Given the description of an element on the screen output the (x, y) to click on. 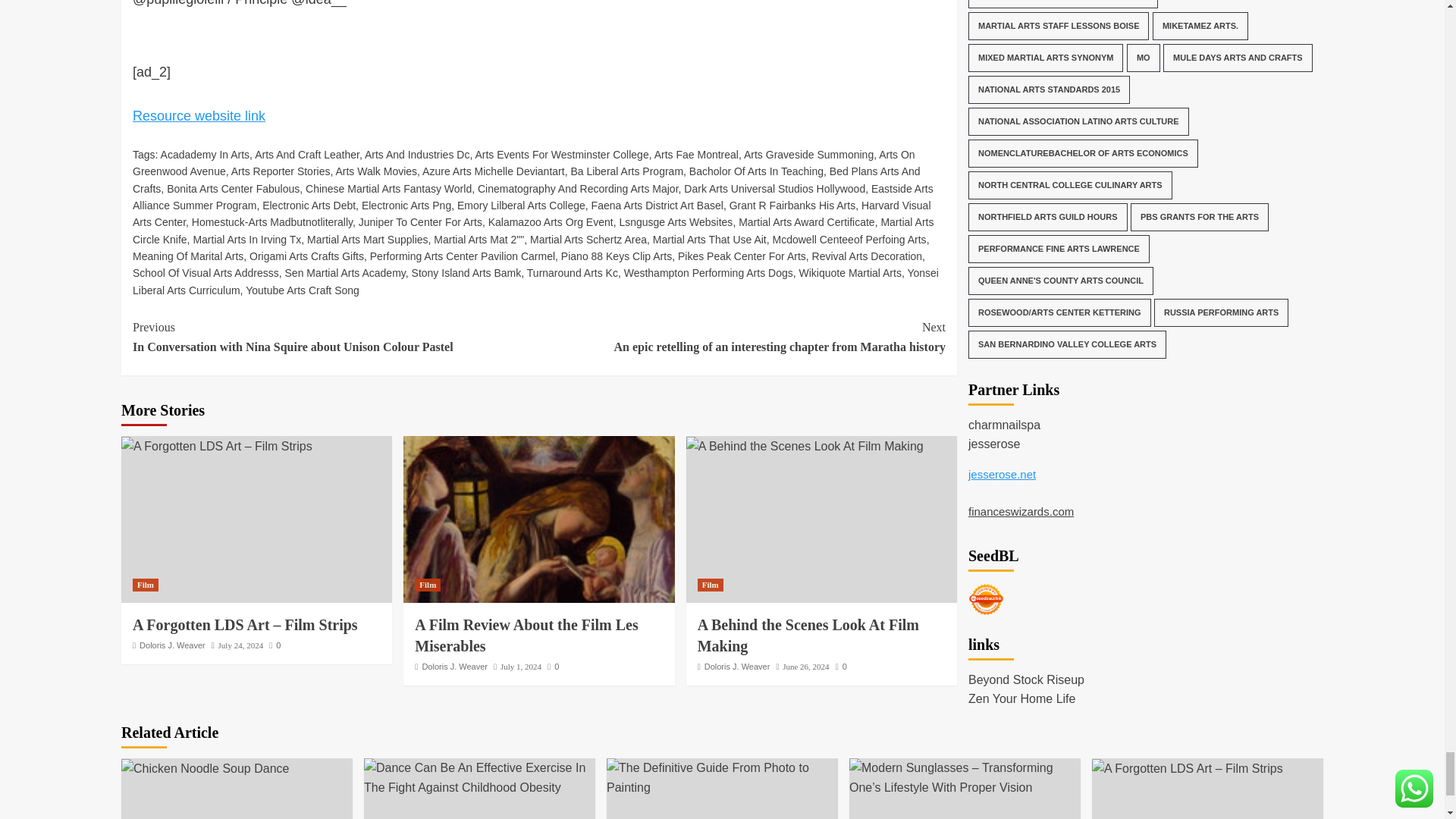
Arts Graveside Summoning (808, 154)
The Definitive Guide From Photo to Painting (722, 777)
Acadademy In Arts (205, 154)
Resource website link (198, 115)
A Film Review About the Film Les Miserables (538, 518)
Arts Fae Montreal (695, 154)
Arts And Industries Dc (417, 154)
Arts On Greenwood Avenue (523, 162)
A Behind the Scenes Look At Film Making (804, 446)
Arts And Craft Leather (306, 154)
Arts Events For Westminster College (560, 154)
Chicken Noodle Soup Dance (204, 768)
